Given the description of an element on the screen output the (x, y) to click on. 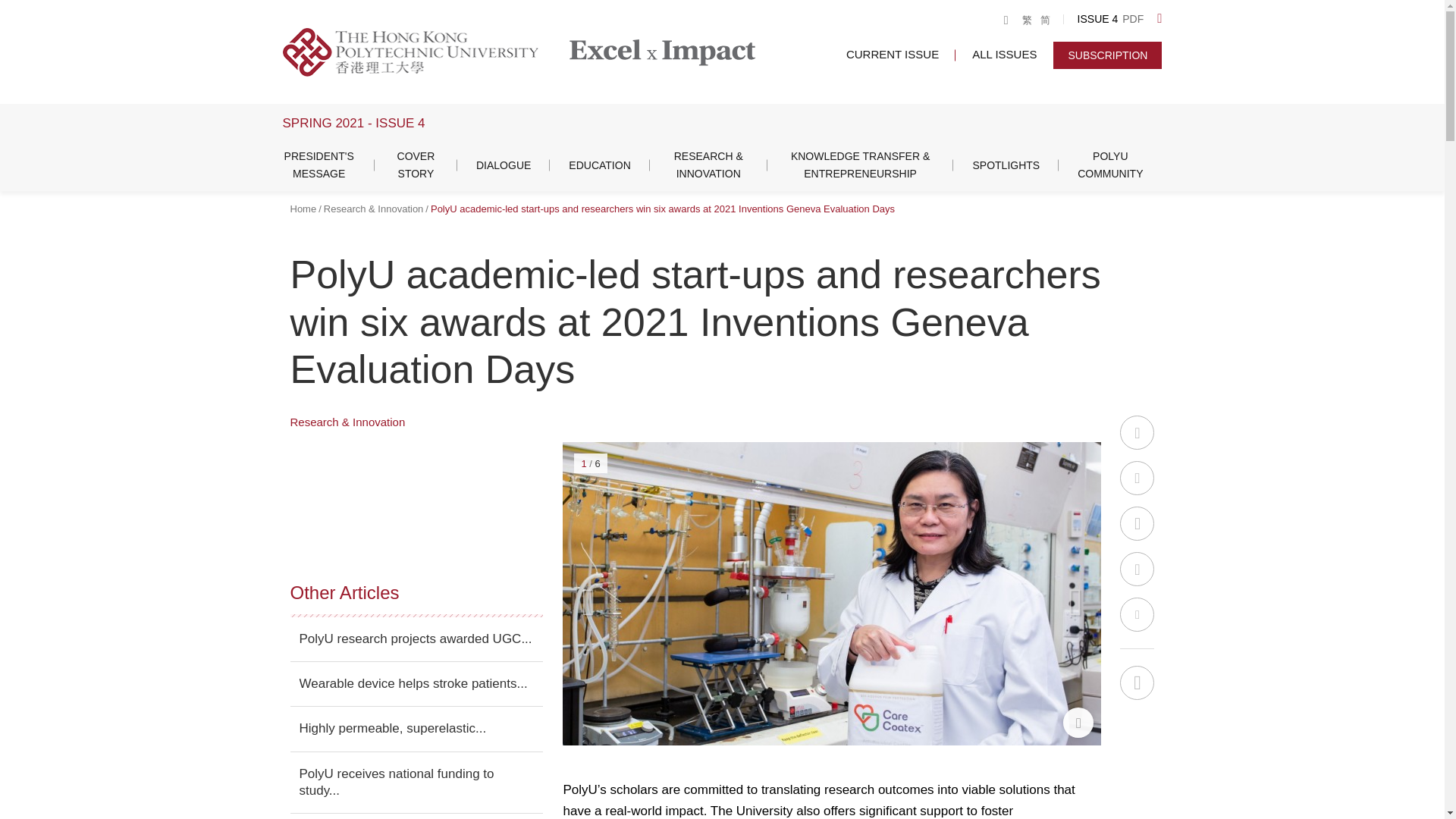
EDUCATION (599, 165)
COVER STORY (415, 165)
PDF (1132, 19)
ALL ISSUES (1004, 53)
PRESIDENT'S MESSAGE (318, 165)
SUBSCRIPTION (1106, 54)
CURRENT ISSUE (892, 53)
DIALOGUE (503, 165)
